Given the description of an element on the screen output the (x, y) to click on. 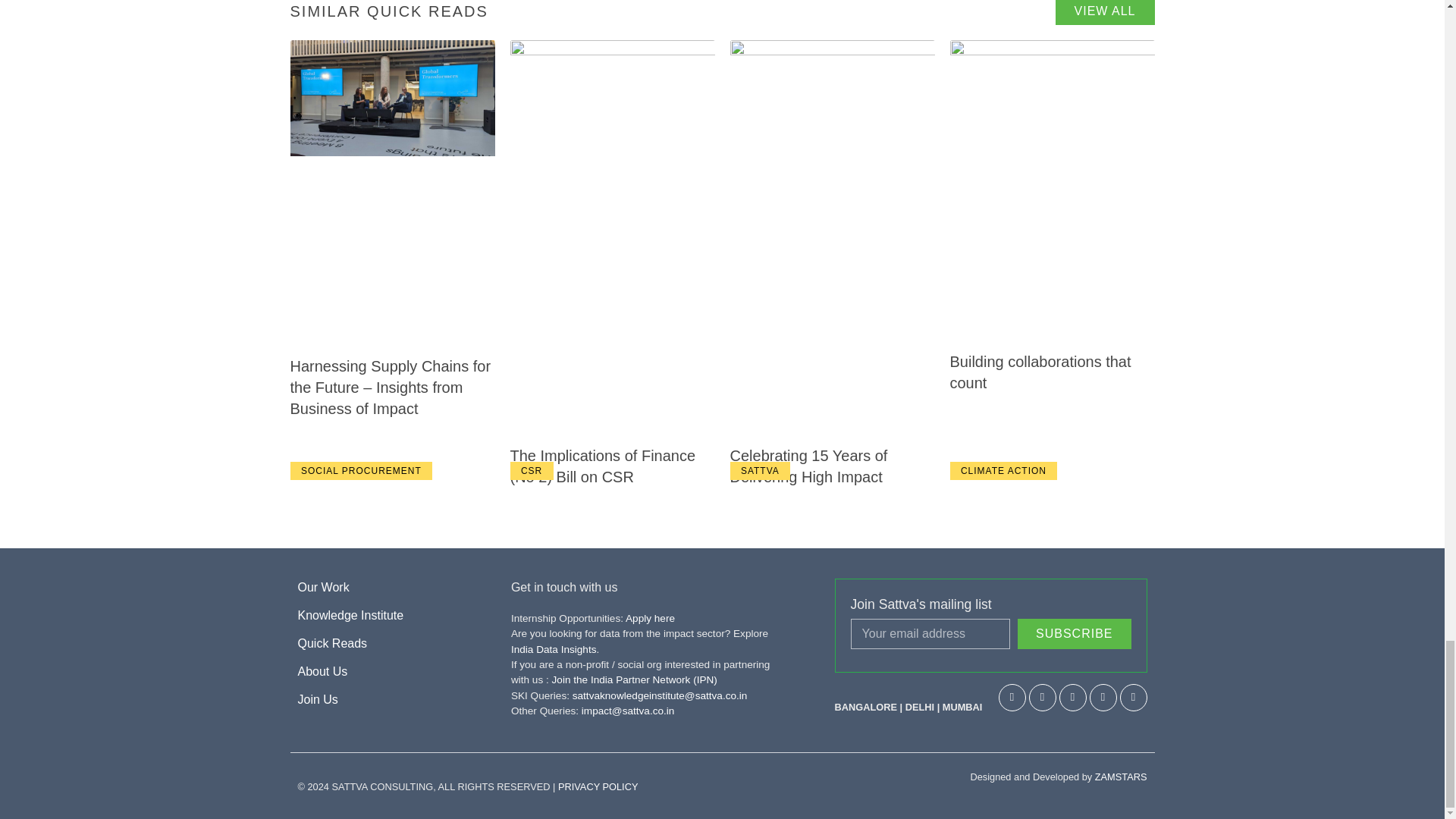
Join Us (384, 700)
Building collaborations that count (1040, 371)
Apply here (650, 618)
Quick Reads (384, 643)
Celebrating 15 Years of Delivering High Impact (807, 466)
India Data Insights (553, 649)
Knowledge Institute (384, 615)
About Us (384, 671)
Our Work (384, 587)
VIEW ALL (1104, 12)
